Given the description of an element on the screen output the (x, y) to click on. 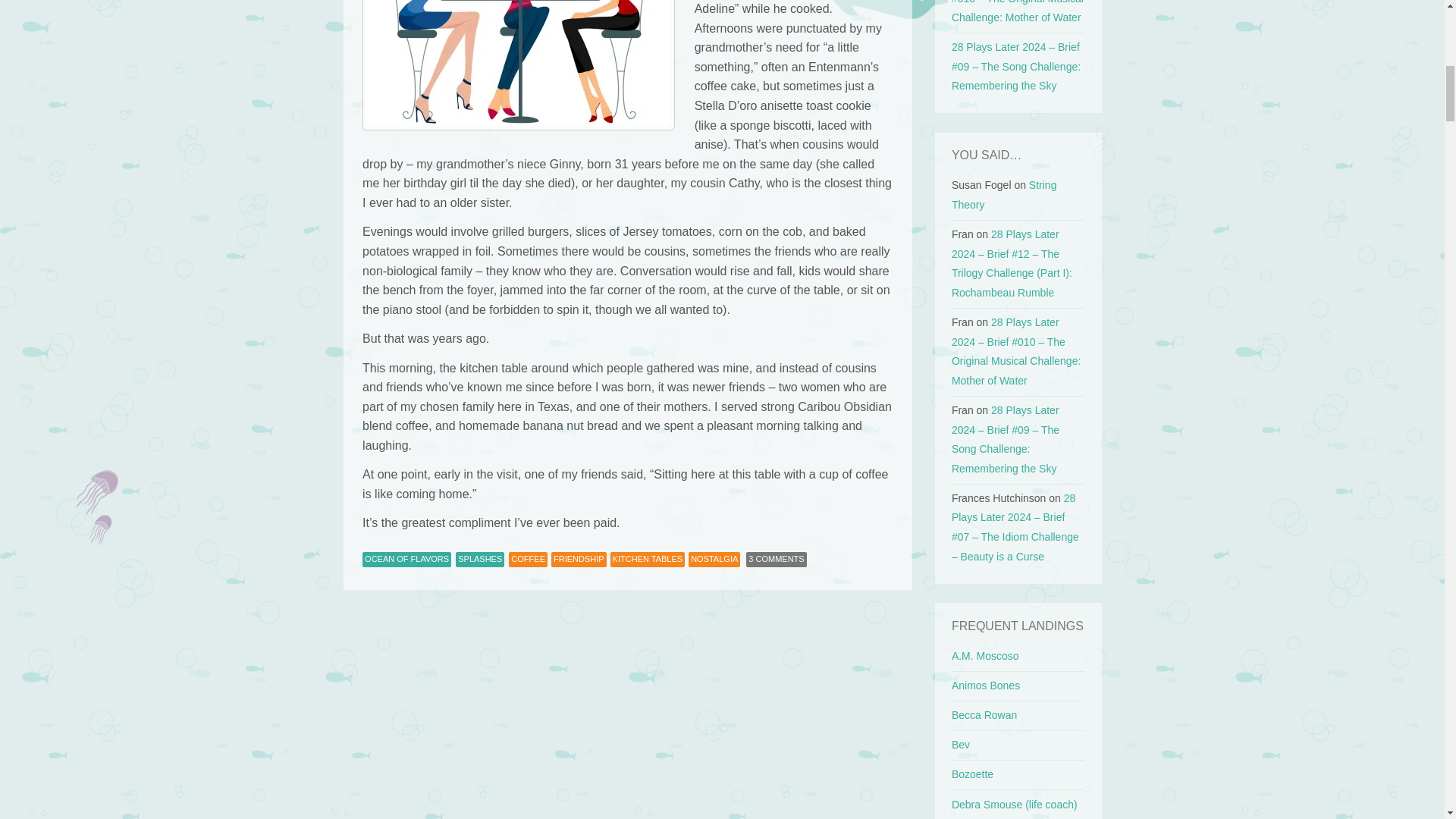
String Theory (1004, 194)
Bozoette (972, 774)
FRIENDSHIP (579, 559)
Bev (960, 744)
OCEAN OF FLAVORS (406, 559)
COFFEE (527, 559)
DrinkingCoffee400 from iStockPhoto.com (518, 65)
NOSTALGIA (713, 559)
SPLASHES (479, 559)
3 COMMENTS (775, 559)
A.M. Moscoso (985, 655)
Animos Bones (986, 685)
KITCHEN TABLES (647, 559)
Becca Rowan (984, 715)
